Given the description of an element on the screen output the (x, y) to click on. 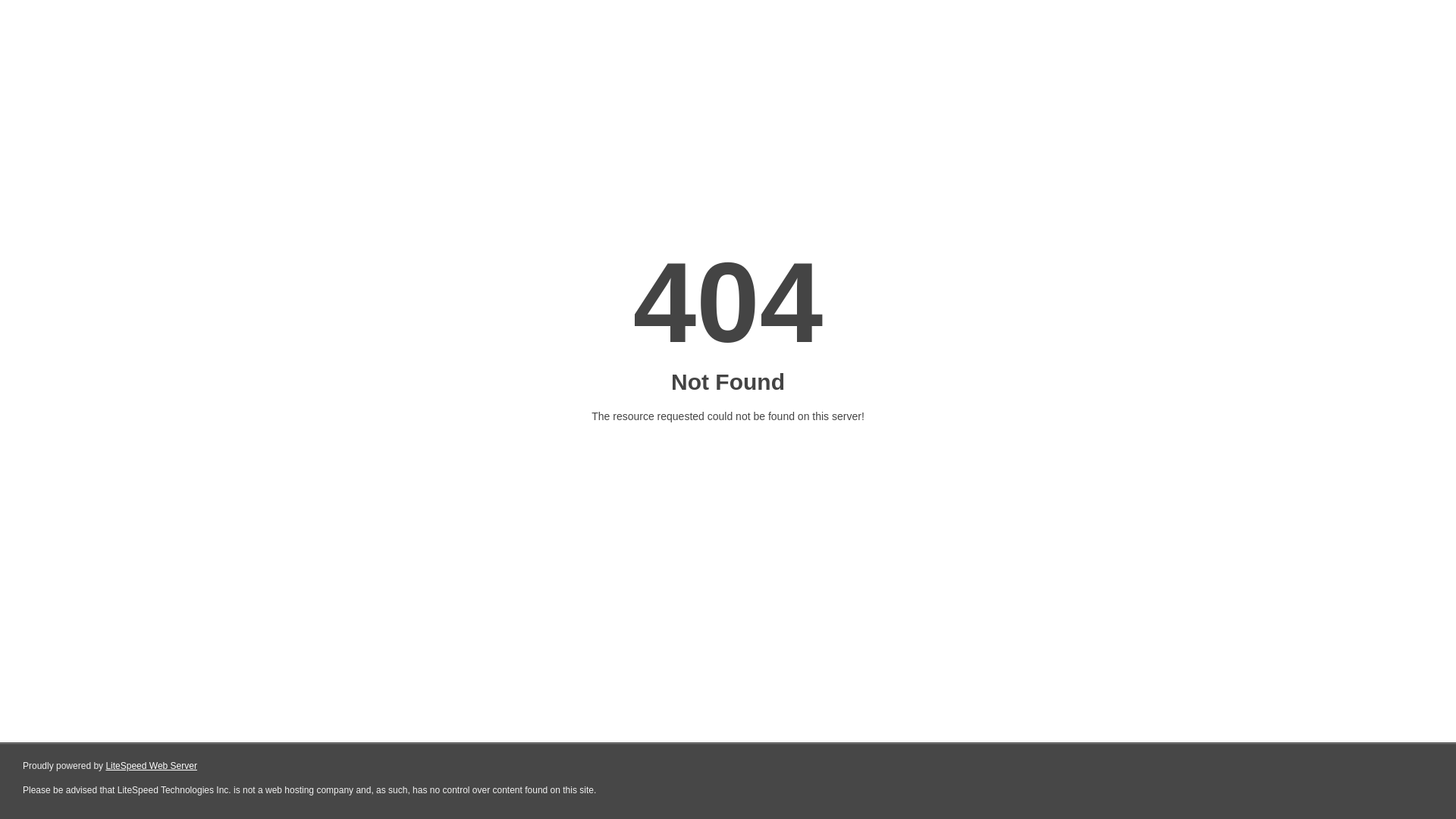
LiteSpeed Web Server Element type: text (151, 765)
